Given the description of an element on the screen output the (x, y) to click on. 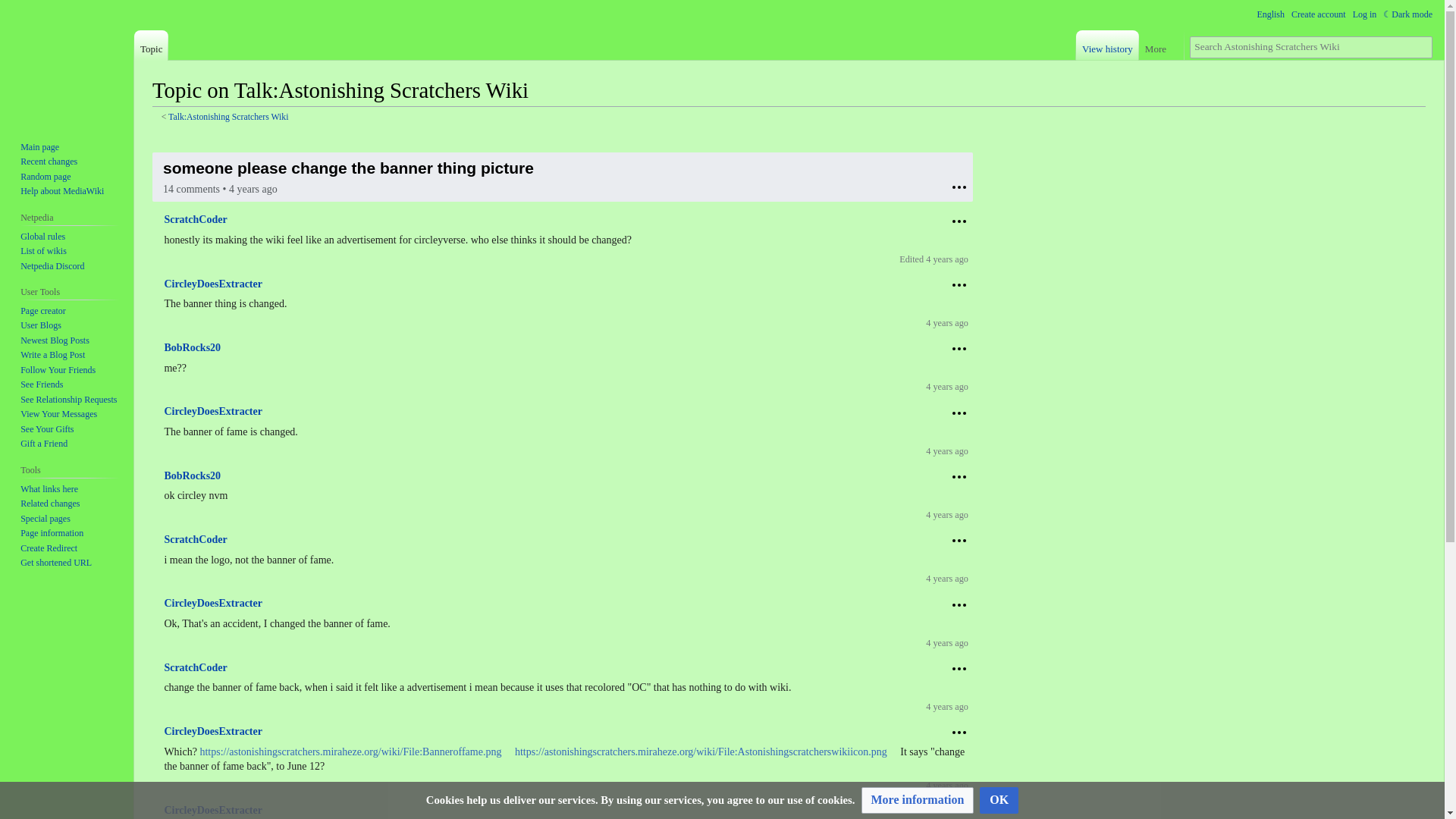
4 years ago (949, 258)
4 years ago (949, 386)
BobRocks20 (192, 475)
4 years ago (949, 450)
4 years ago (949, 322)
Talk:Astonishing Scratchers Wiki (228, 117)
4 years ago (949, 514)
ScratchCoder (195, 219)
Go (1420, 46)
ScratchCoder (195, 539)
